Given the description of an element on the screen output the (x, y) to click on. 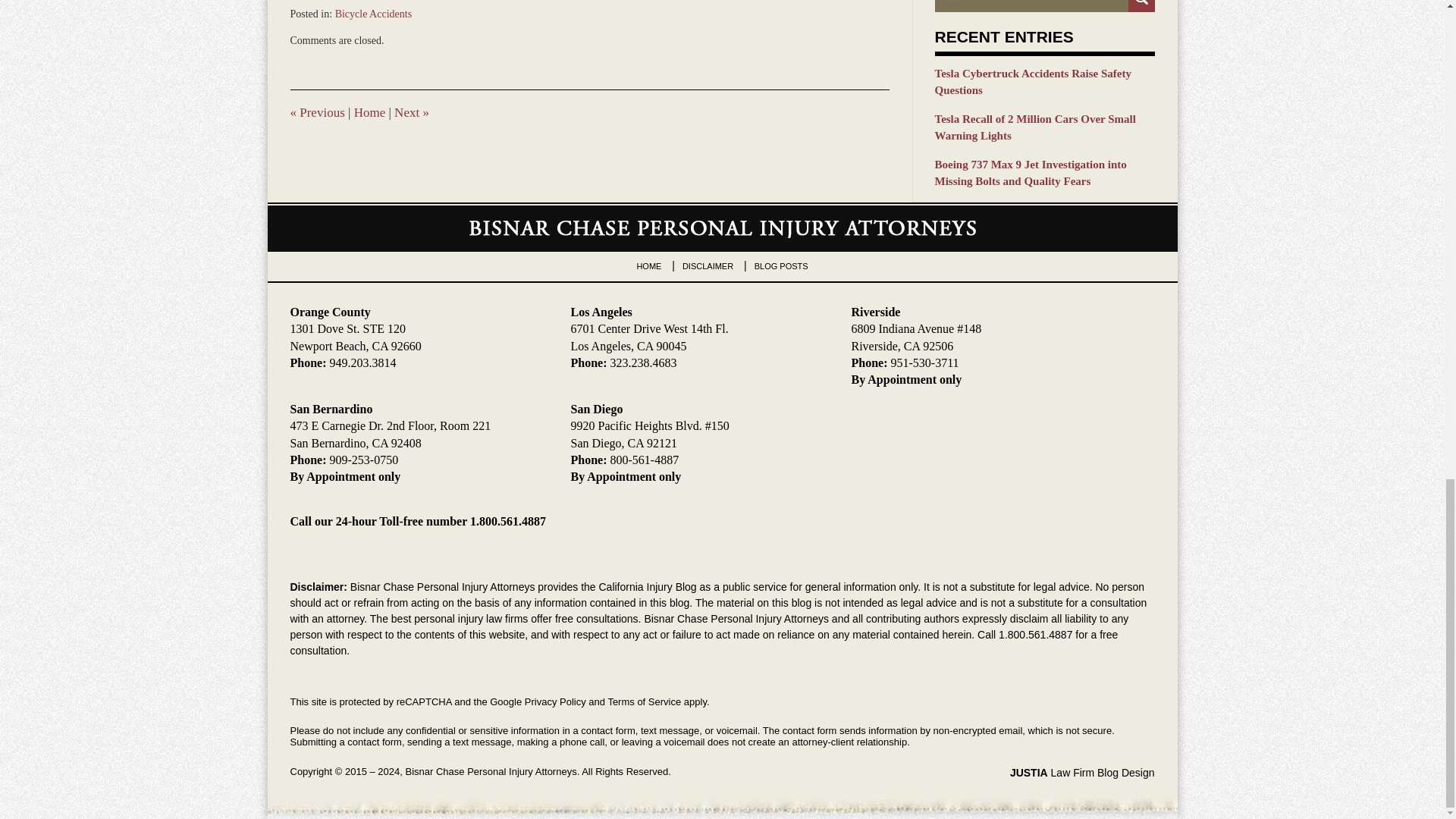
View all posts in Bicycle Accidents (373, 13)
Tesla Cybertruck Accidents Raise Safety Questions (1044, 82)
Tesla Recall of 2 Million Cars Over Small Warning Lights (1044, 127)
SEARCH (1141, 6)
Bicycle Accidents (373, 13)
Lawsuit Filed in San Diego Dog Bite Case (316, 112)
Fatal La Habra Hit-and-Run Crash (411, 112)
Home (369, 112)
